Given the description of an element on the screen output the (x, y) to click on. 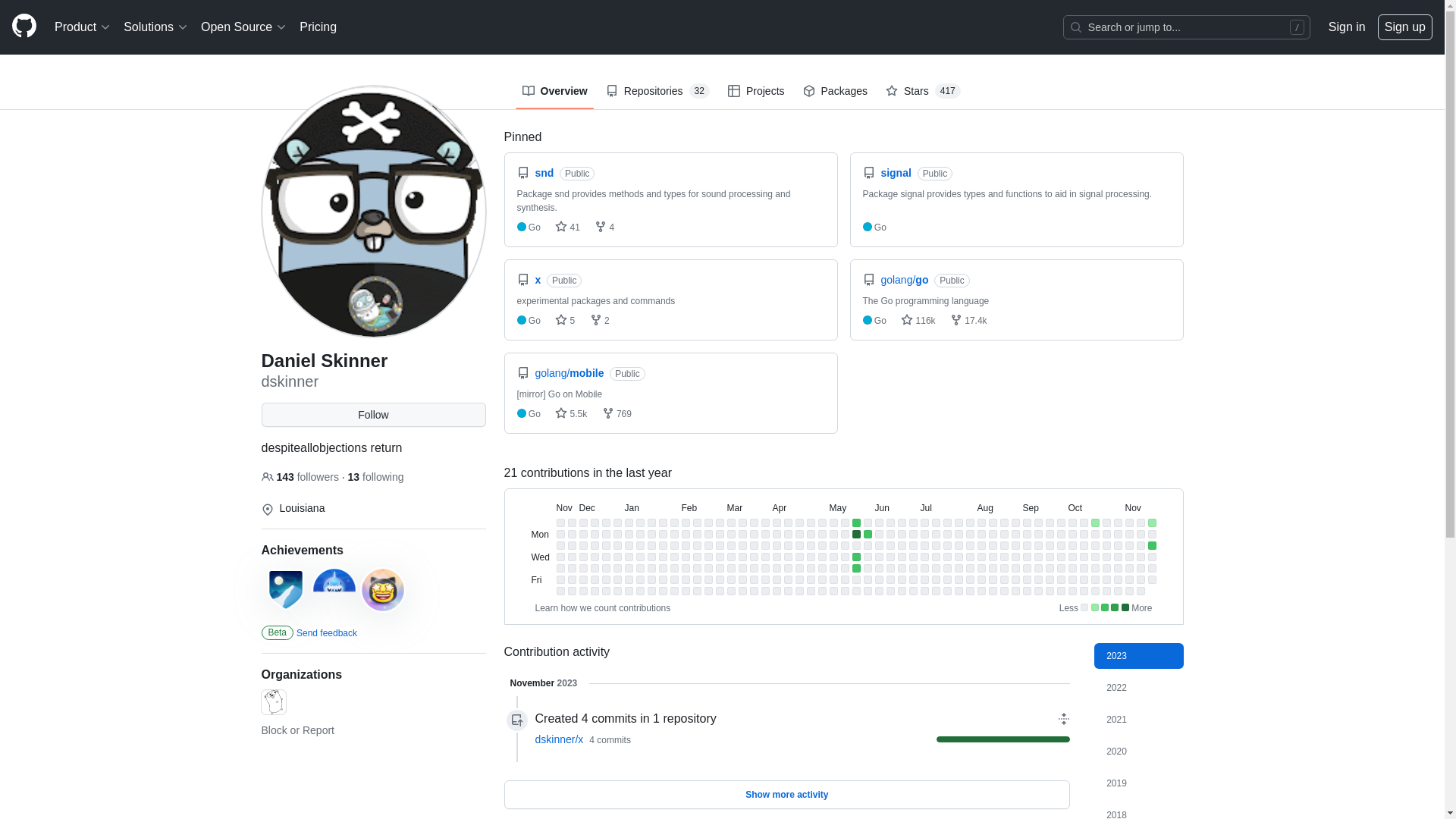
Projects Element type: text (755, 90)
769 Element type: text (616, 413)
Achievements Element type: text (301, 549)
2019 Element type: text (1138, 783)
Follow Element type: text (372, 414)
5.5k Element type: text (570, 413)
Sign in Element type: text (1346, 27)
Show more activity Element type: text (786, 793)
golang/mobile Element type: text (570, 373)
2021 Element type: text (1138, 719)
Learn how we count contributions Element type: text (603, 607)
signal Element type: text (896, 172)
Sign up Element type: text (1404, 27)
Stars
417 Element type: text (922, 90)
golang/go Element type: text (905, 279)
Product Element type: text (82, 27)
17.4k Element type: text (968, 320)
Open Source Element type: text (243, 27)
143 followers Element type: text (300, 476)
Pricing Element type: text (317, 27)
Search or jump to... Element type: text (1186, 26)
116k Element type: text (917, 320)
Packages Element type: text (835, 90)
4 commits Element type: text (609, 739)
dskinner/x Element type: text (559, 739)
5 Element type: text (564, 320)
2022 Element type: text (1138, 687)
snd Element type: text (545, 172)
Solutions Element type: text (155, 27)
Repositories
32 Element type: text (657, 90)
41 Element type: text (567, 227)
2 Element type: text (599, 320)
x Element type: text (538, 279)
Skip to content Element type: text (0, 0)
Overview Element type: text (554, 90)
Send feedback Element type: text (326, 632)
13 following Element type: text (376, 476)
2023 Element type: text (1138, 655)
4 Element type: text (604, 227)
2020 Element type: text (1138, 751)
